Given the description of an element on the screen output the (x, y) to click on. 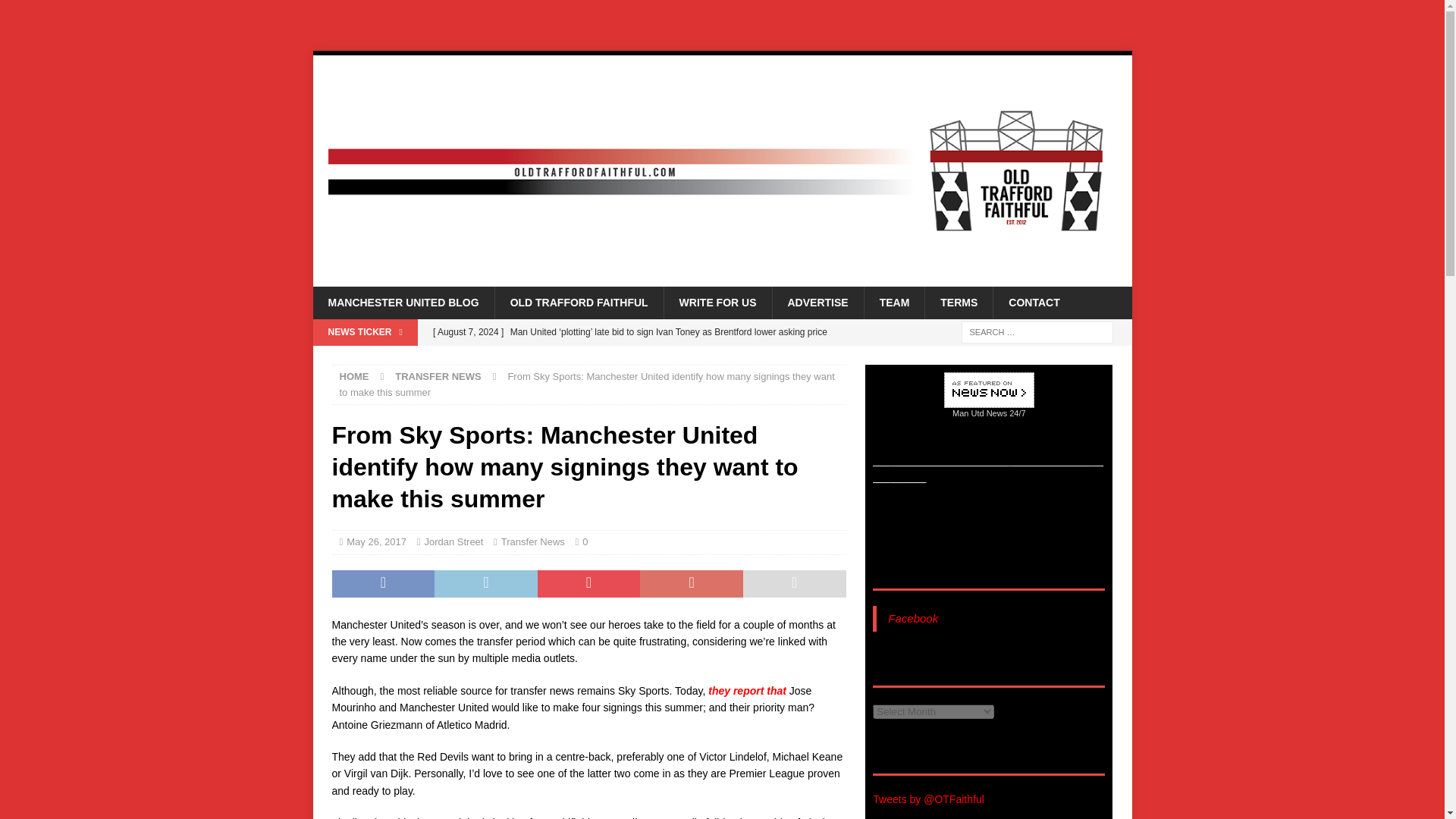
HOME (354, 376)
Jordan Street (453, 541)
May 26, 2017 (376, 541)
WRITE FOR US (717, 302)
Search (56, 11)
OLD TRAFFORD FAITHFUL (579, 302)
Transfer News (532, 541)
MANCHESTER UNITED BLOG (403, 302)
they report that (746, 690)
CONTACT (1033, 302)
TERMS (958, 302)
TRANSFER NEWS (437, 376)
ADVERTISE (817, 302)
TEAM (893, 302)
